Given the description of an element on the screen output the (x, y) to click on. 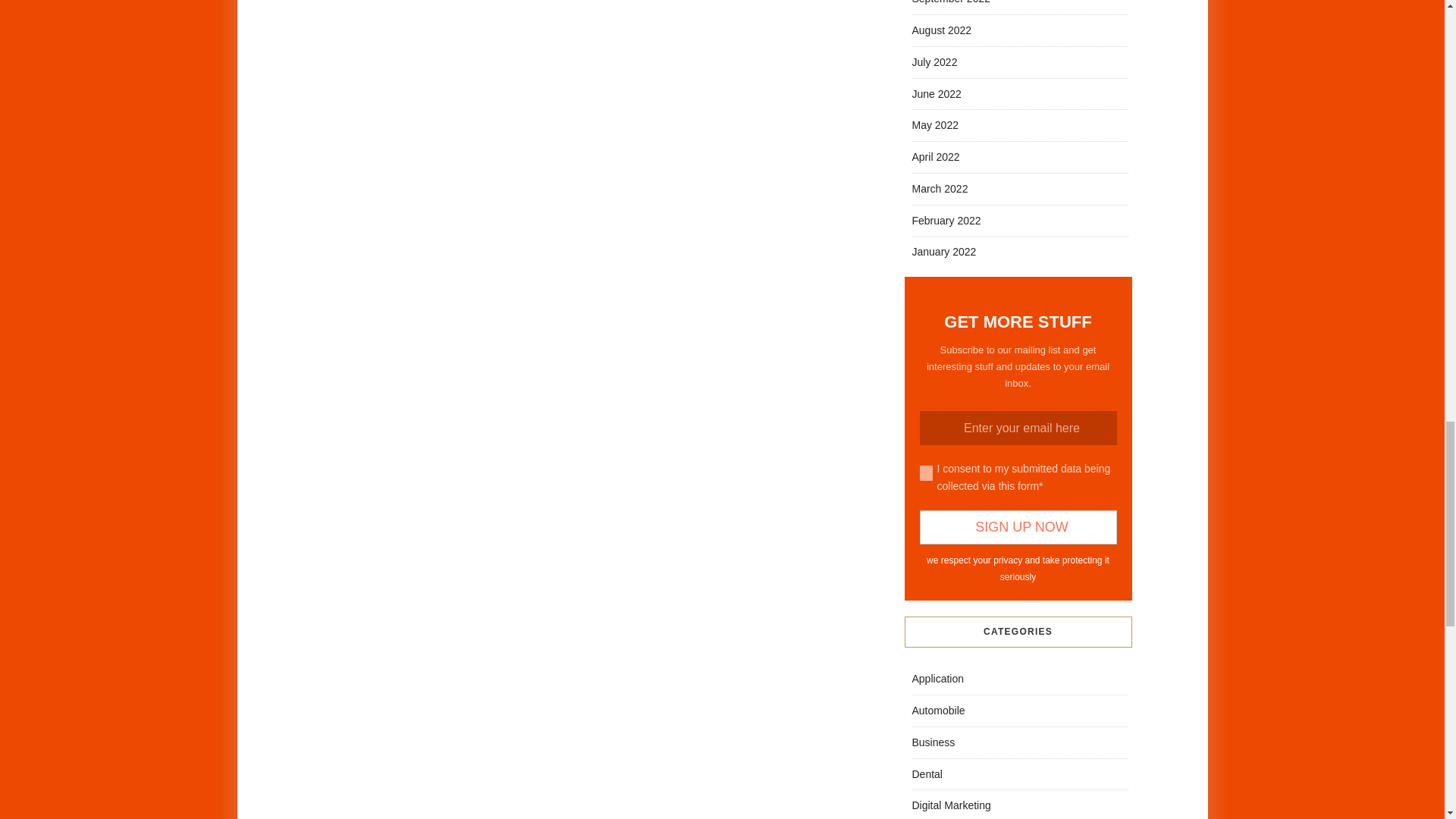
Sign Up Now (1017, 527)
on (924, 473)
